Given the description of an element on the screen output the (x, y) to click on. 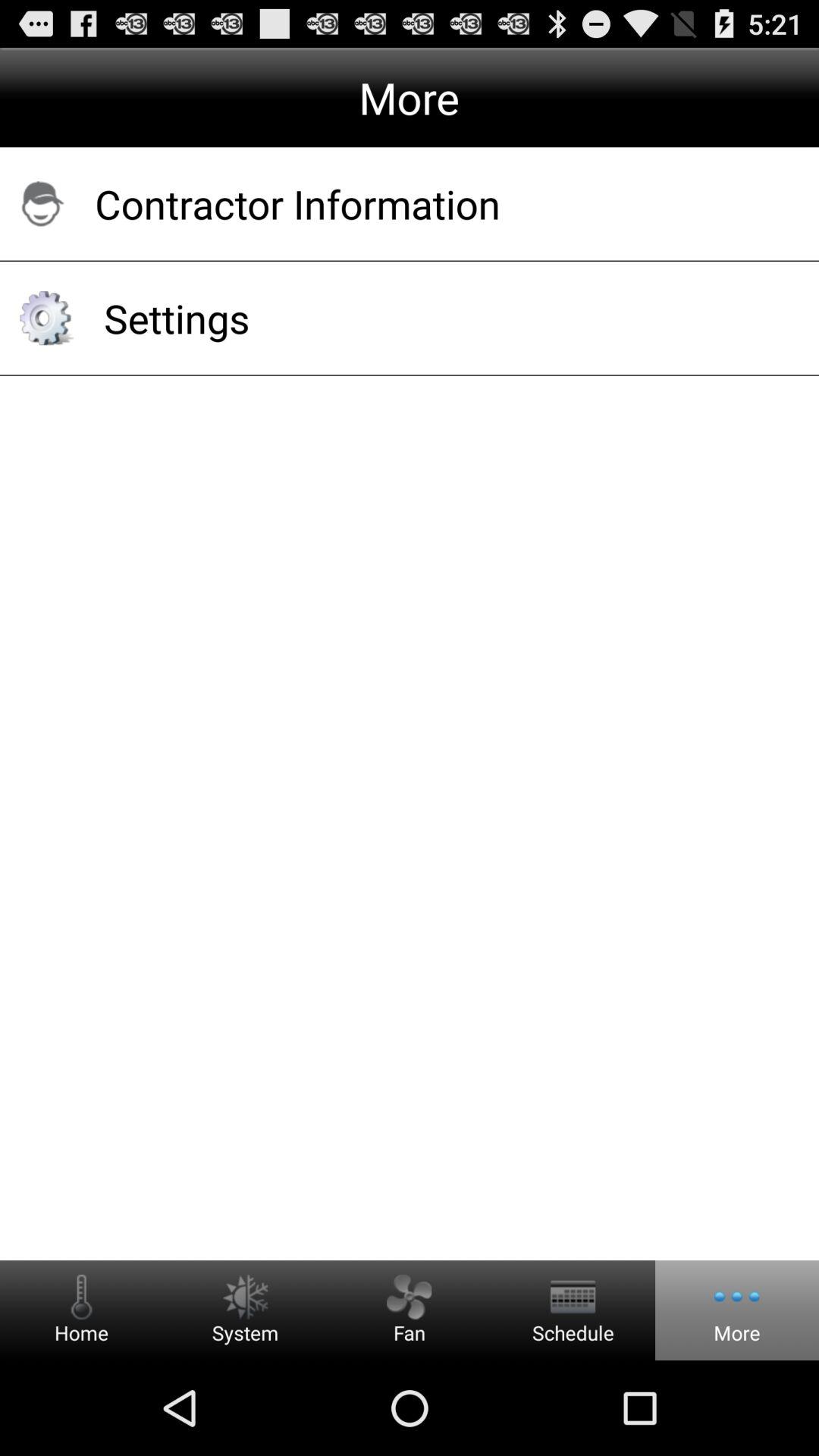
jump to settings app (441, 317)
